Given the description of an element on the screen output the (x, y) to click on. 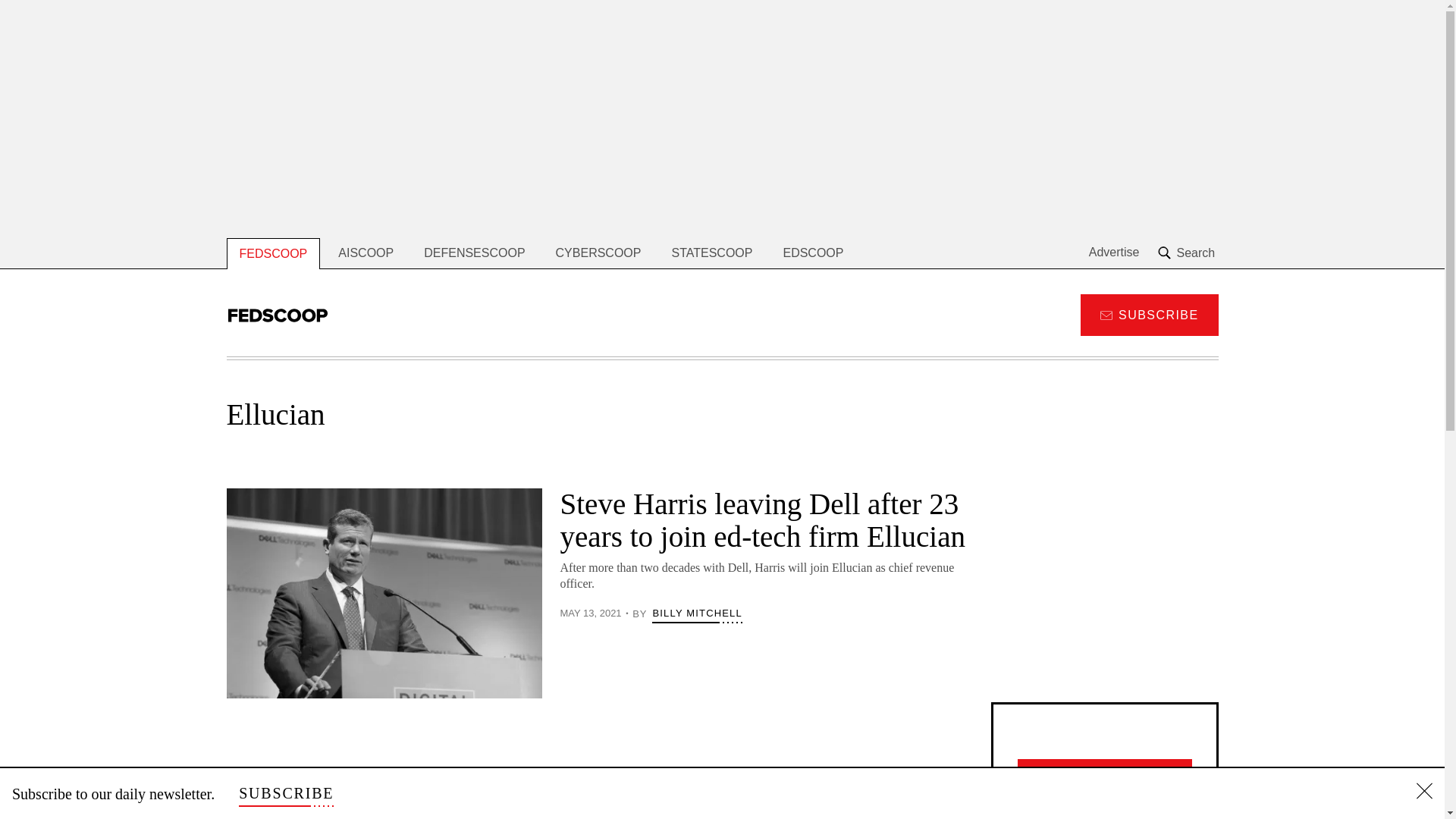
EDSCOOP (813, 253)
Search (1187, 252)
SUBSCRIBE (1148, 314)
Advertise (1114, 252)
STATESCOOP (711, 253)
DEFENSESCOOP (474, 253)
CYBERSCOOP (598, 253)
SUBSCRIBE (285, 793)
